Given the description of an element on the screen output the (x, y) to click on. 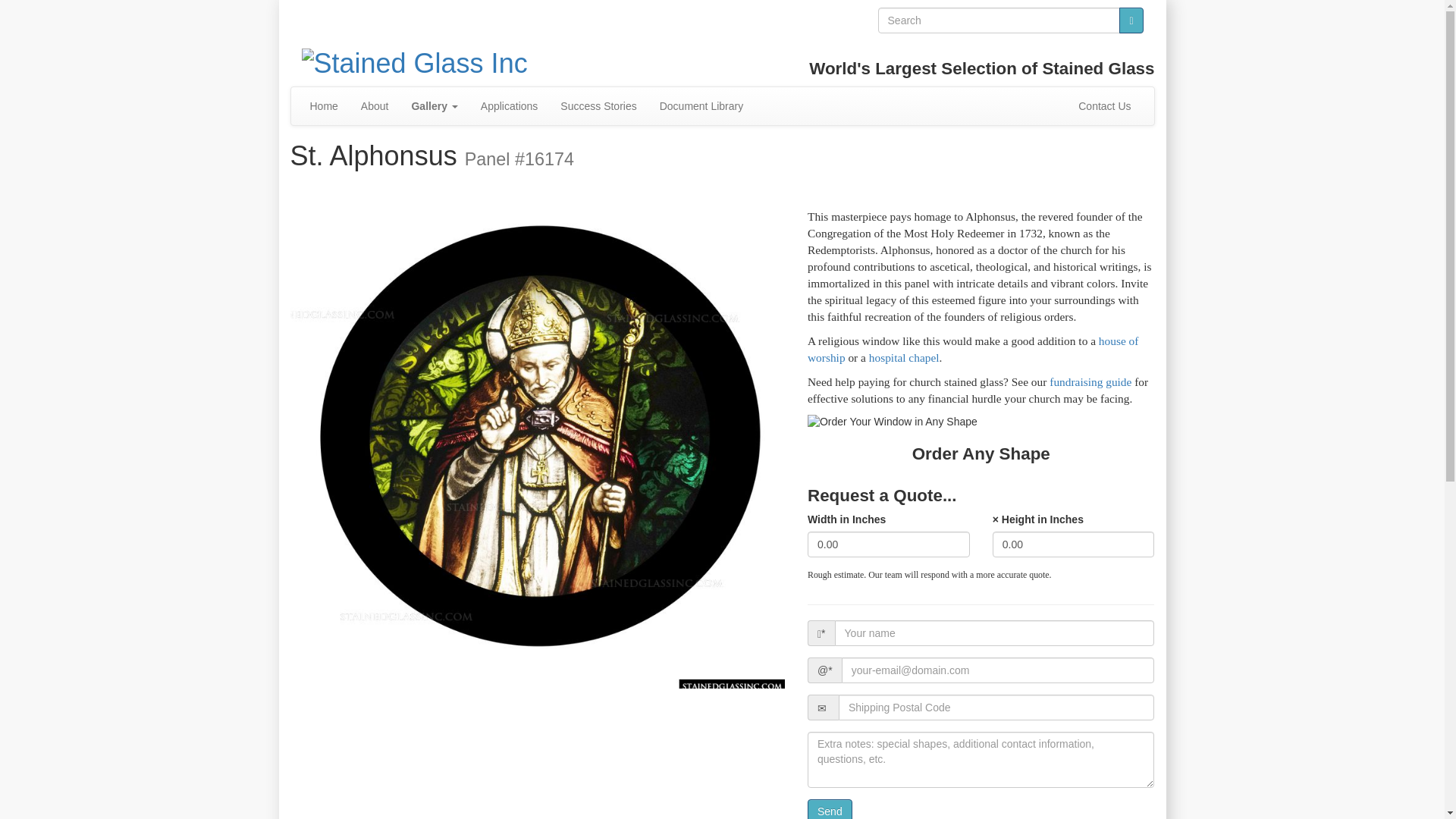
fundraising guide (1090, 381)
0.00 (1073, 544)
Applications (509, 105)
About (374, 105)
Gallery (433, 105)
Send (829, 809)
Document Library (701, 105)
Contact Us (1104, 105)
0.00 (888, 544)
Success Stories (597, 105)
hospital chapel (904, 357)
Home (323, 105)
house of worship (973, 348)
